Given the description of an element on the screen output the (x, y) to click on. 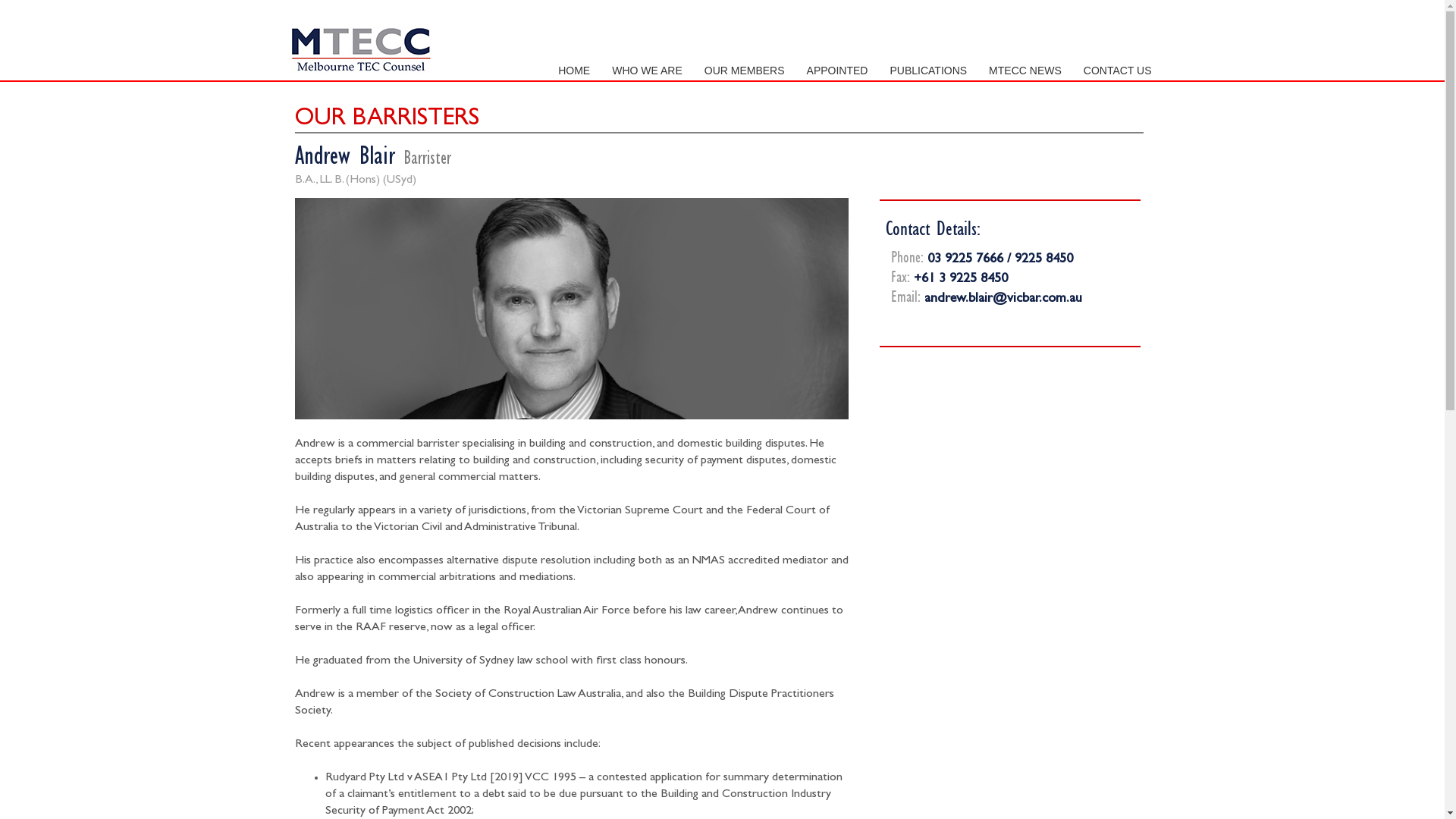
HOME Element type: text (574, 70)
WHO WE ARE Element type: text (646, 70)
CONTACT US Element type: text (1117, 70)
OUR MEMBERS Element type: text (744, 70)
Melbourne TEC Chambers Element type: hover (359, 49)
andrew.blair@vicbar.com.au Element type: text (1003, 299)
MTECC NEWS Element type: text (1024, 70)
PUBLICATIONS Element type: text (927, 70)
APPOINTED Element type: text (837, 70)
